Given the description of an element on the screen output the (x, y) to click on. 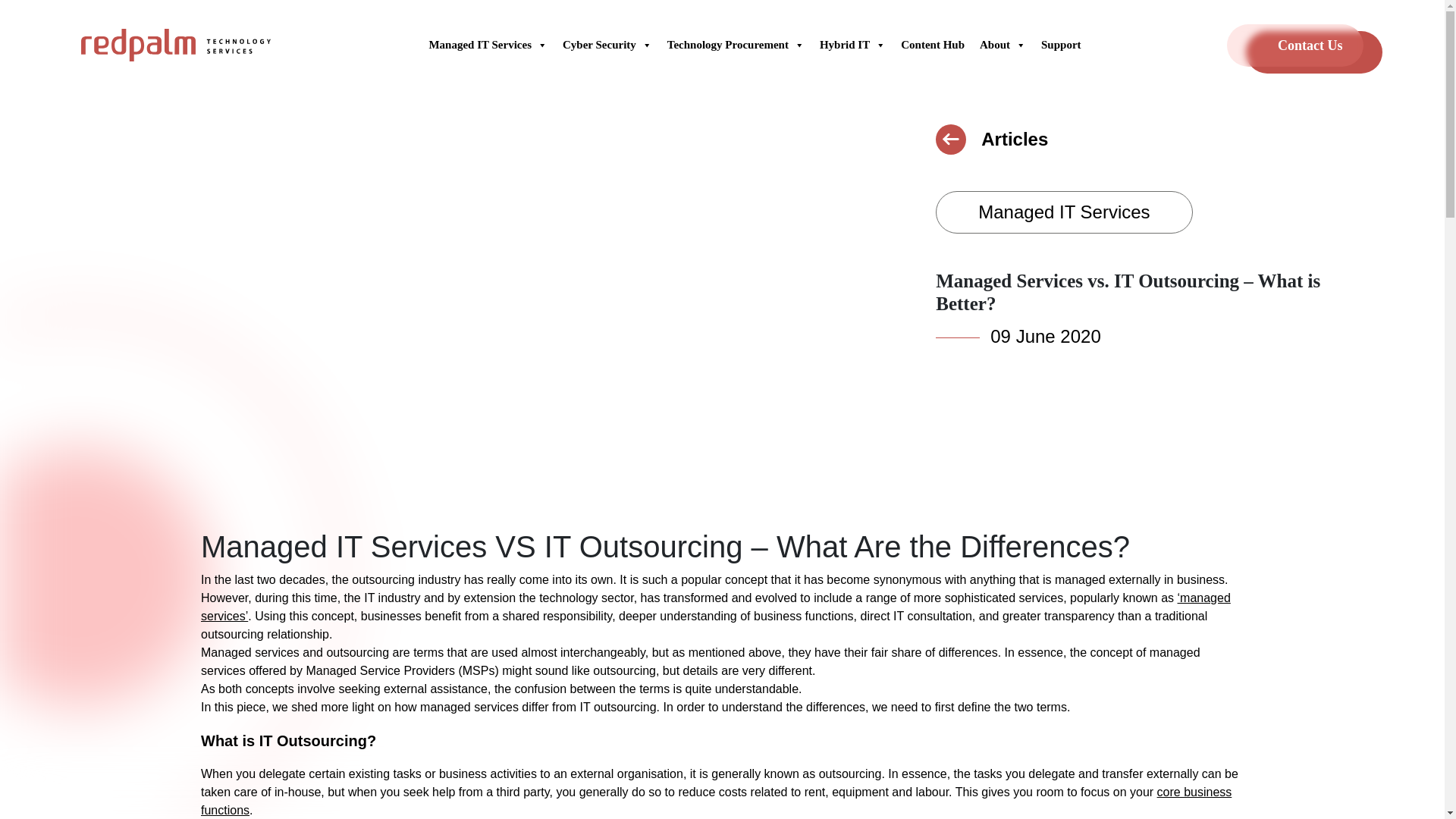
Cyber Security (606, 44)
Content Hub (932, 44)
Managed IT Services (487, 44)
Hybrid IT (852, 44)
Technology Procurement (735, 44)
Contact Us (1294, 45)
